Given the description of an element on the screen output the (x, y) to click on. 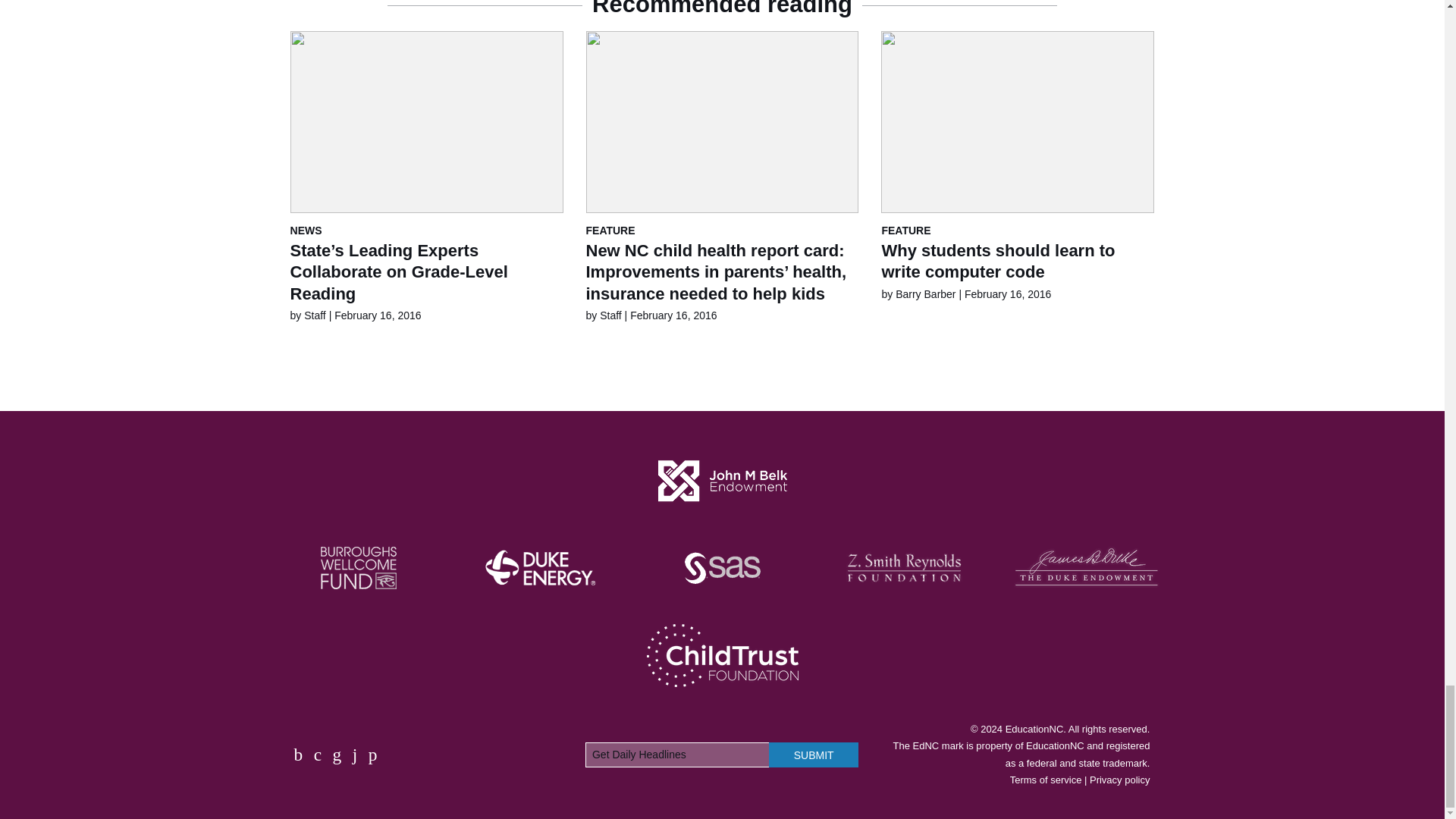
SUBMIT (813, 754)
